Given the description of an element on the screen output the (x, y) to click on. 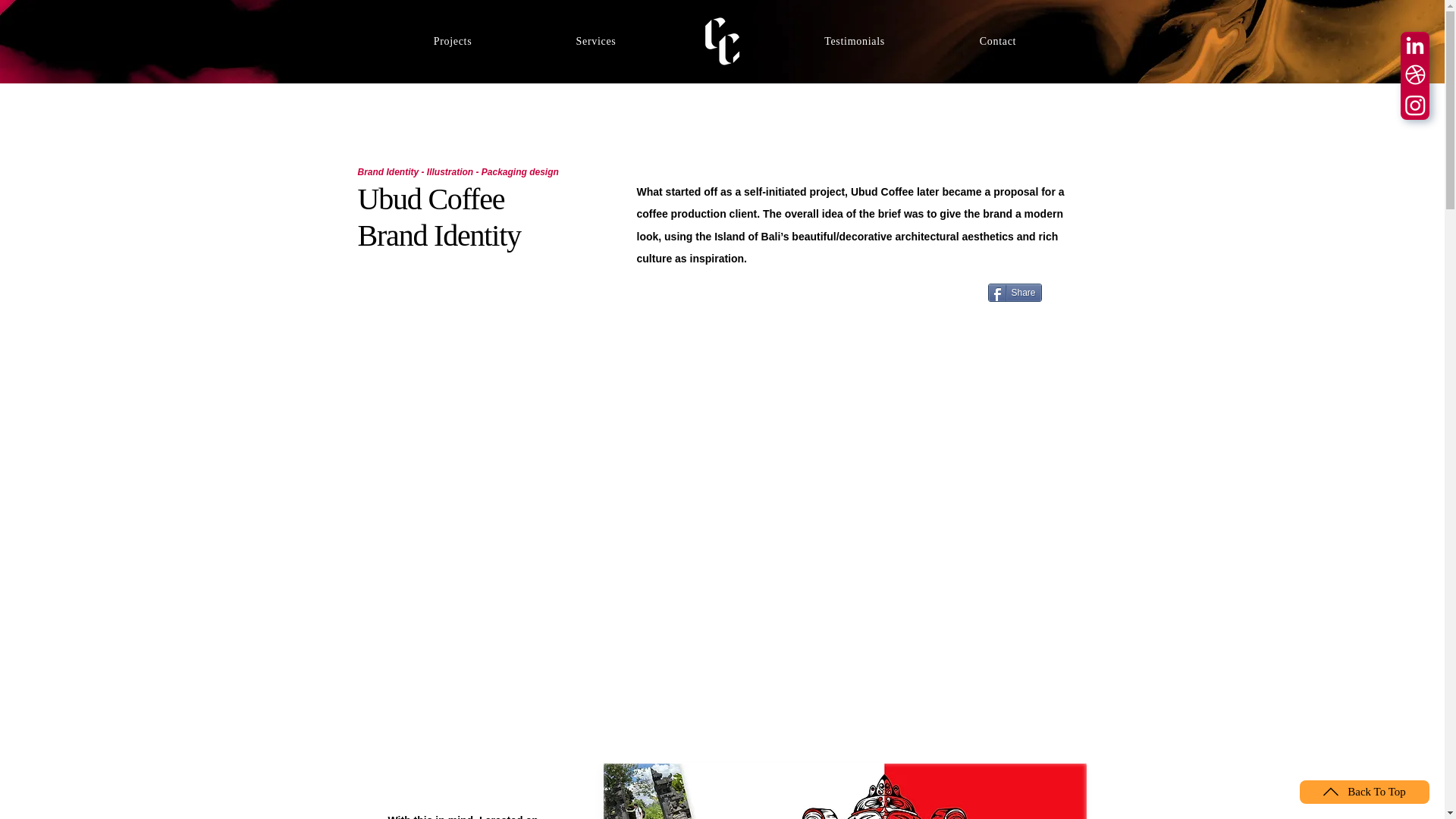
Contact (998, 41)
Testimonials (854, 41)
Services (596, 41)
Share (1014, 292)
Projects (452, 41)
Eye (722, 41)
Share (1014, 292)
Pin to Pinterest (1067, 294)
Back To Top (1364, 791)
